Given the description of an element on the screen output the (x, y) to click on. 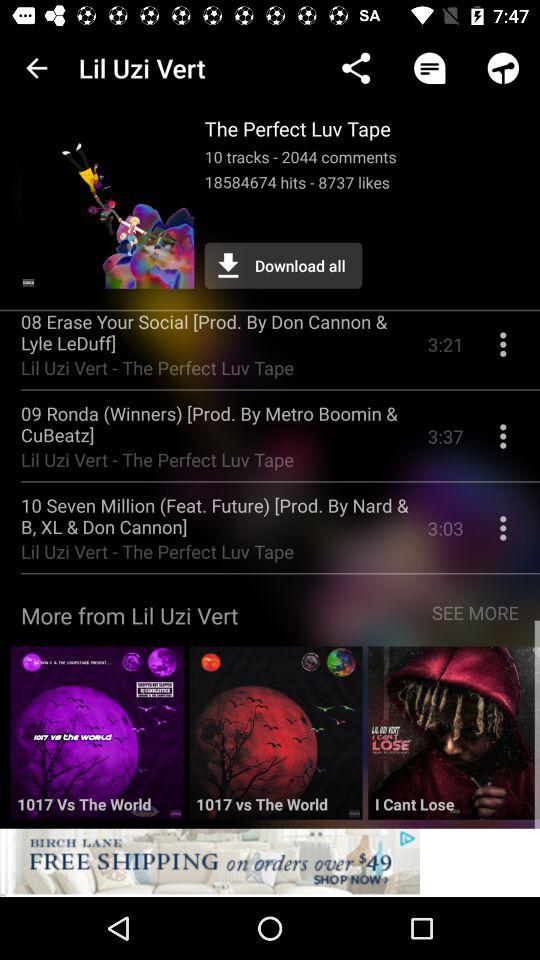
open 1017 vs the world album (96, 740)
